Given the description of an element on the screen output the (x, y) to click on. 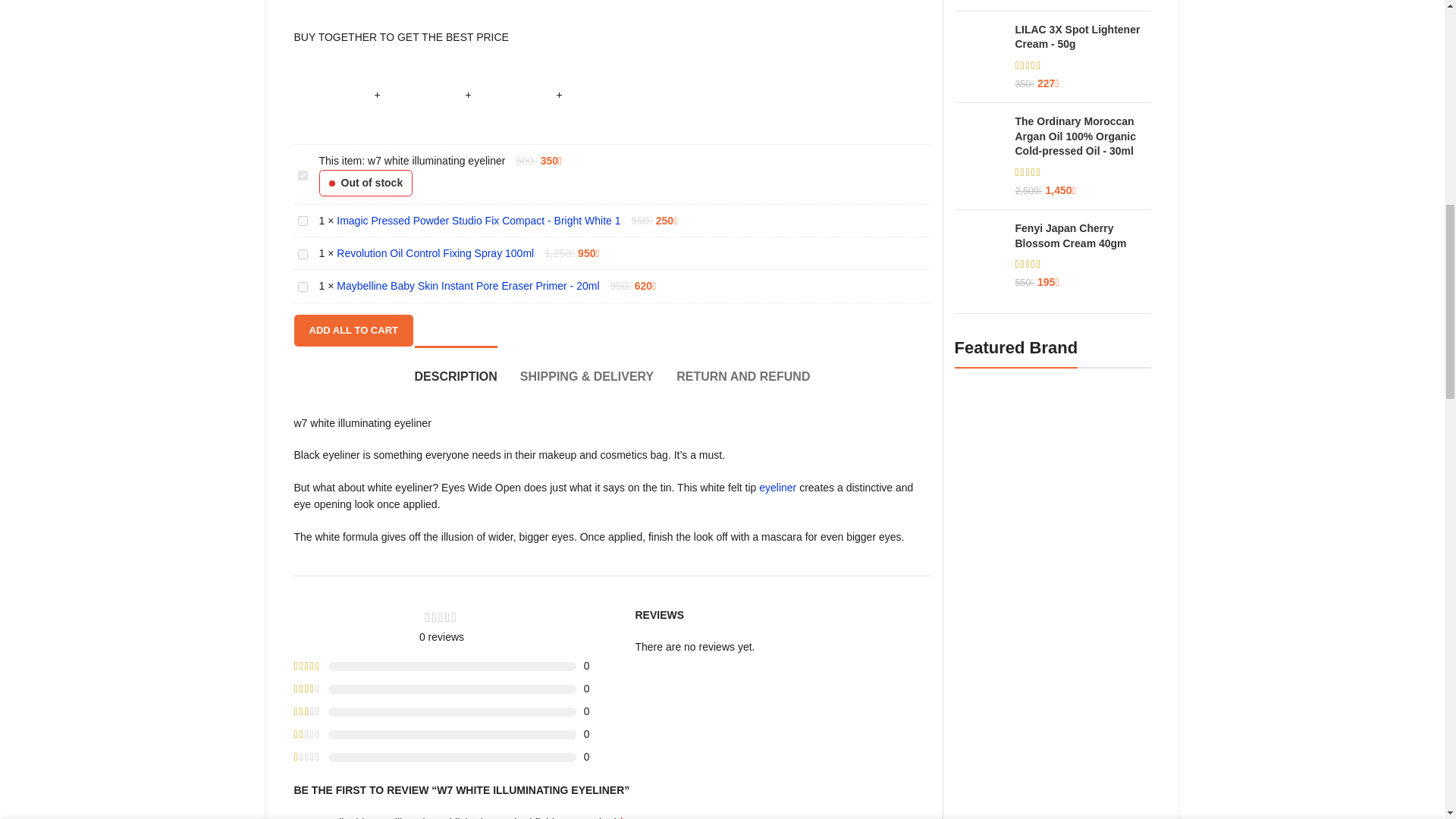
14487 (302, 221)
on (302, 175)
10260 (302, 254)
10374 (302, 286)
